Given the description of an element on the screen output the (x, y) to click on. 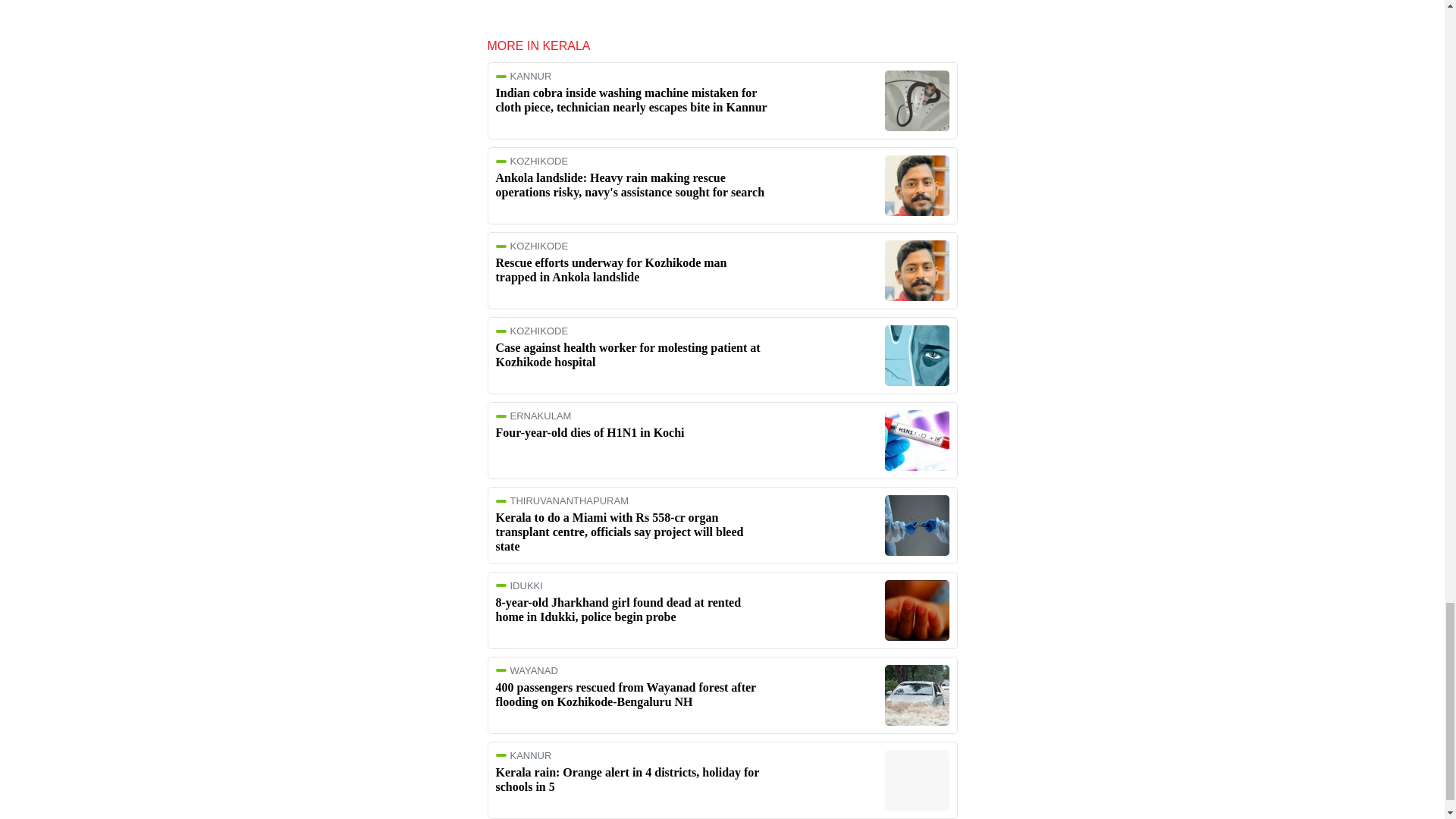
WAYANAD (633, 670)
ERNAKULAM (633, 415)
Four-year-old dies of H1N1 in Kochi (590, 431)
KANNUR (633, 755)
KOZHIKODE (633, 245)
KOZHIKODE (633, 330)
KANNUR (633, 75)
KOZHIKODE (633, 161)
IDUKKI (633, 585)
THIRUVANANTHAPURAM (633, 500)
